Given the description of an element on the screen output the (x, y) to click on. 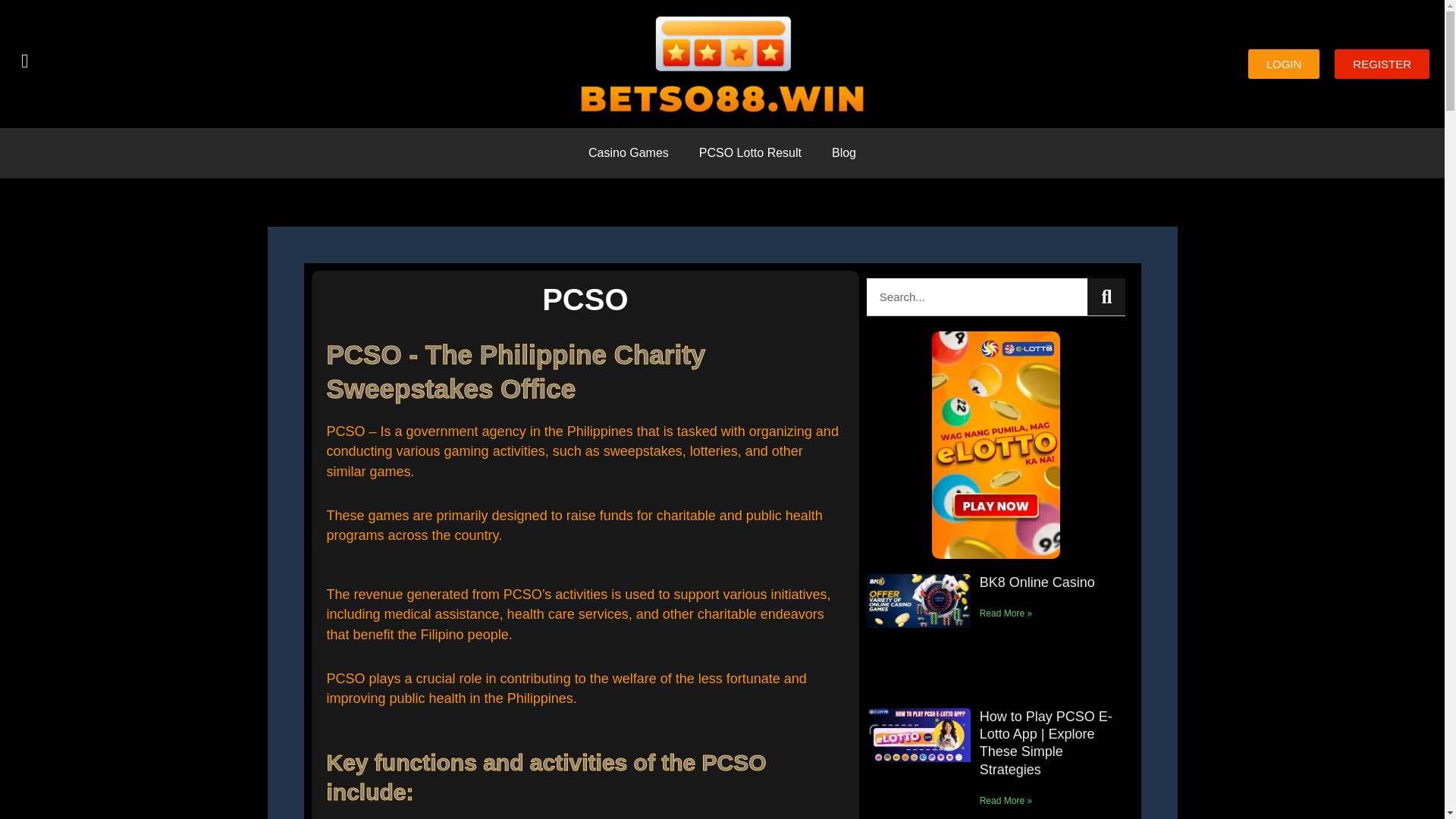
REGISTER (1382, 63)
LOGIN (1283, 63)
Search (1106, 296)
PCSO Lotto Result (750, 152)
Casino Games (628, 152)
Blog (843, 152)
BK8 Online Casino (1036, 581)
